Given the description of an element on the screen output the (x, y) to click on. 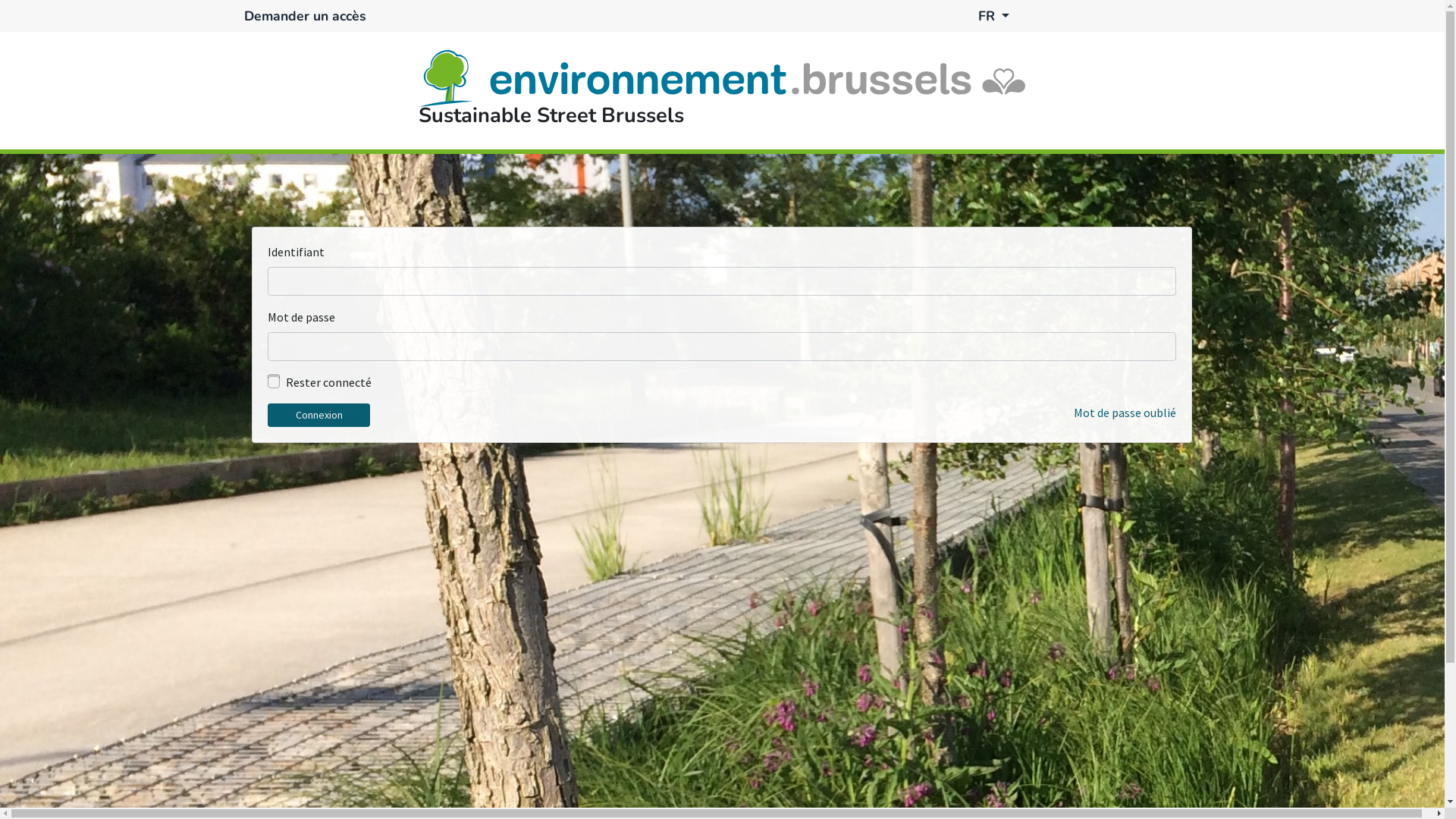
Connexion Element type: text (318, 414)
FR Element type: text (1088, 15)
